Given the description of an element on the screen output the (x, y) to click on. 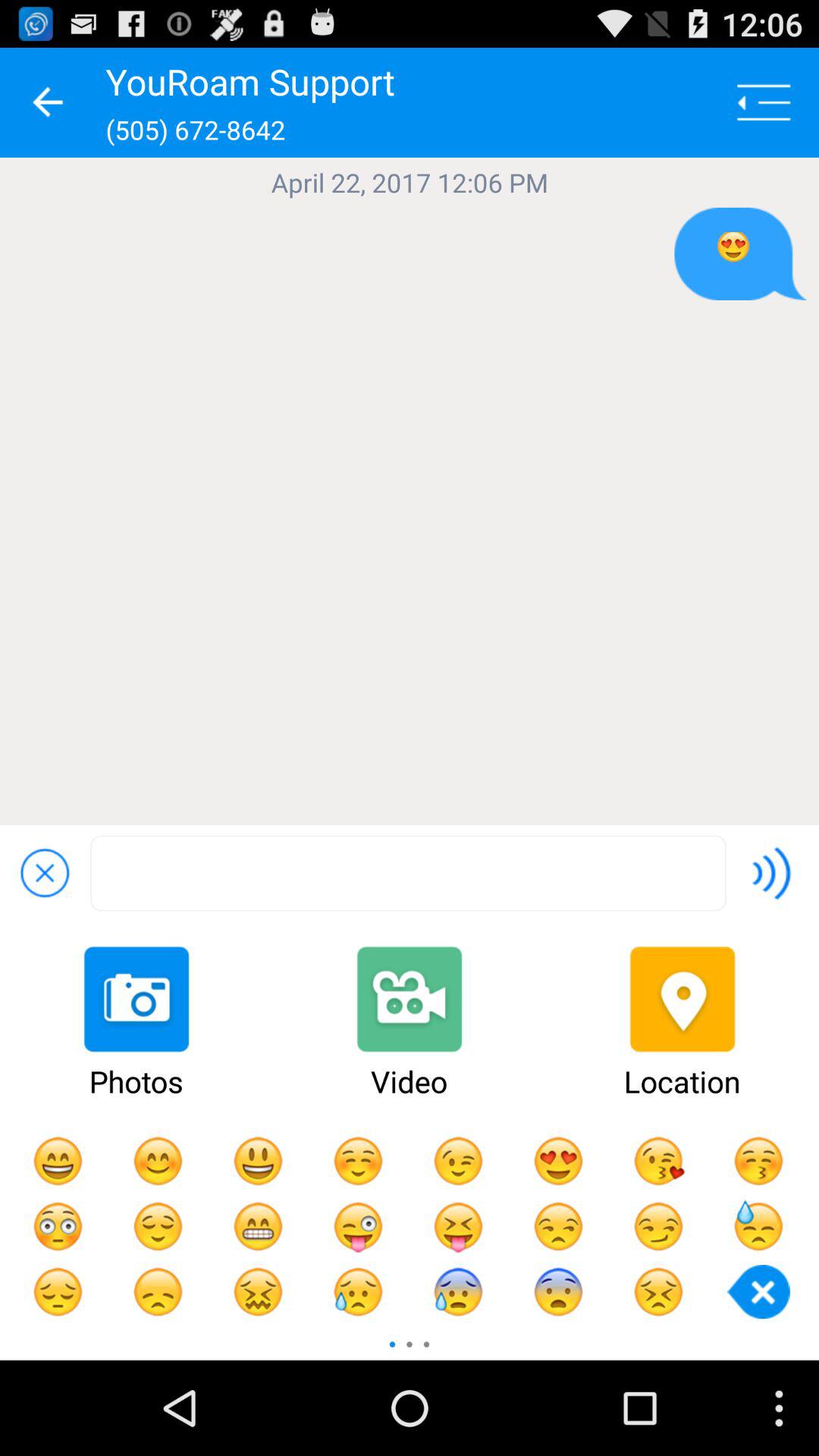
a place to enter text for a message (408, 873)
